Given the description of an element on the screen output the (x, y) to click on. 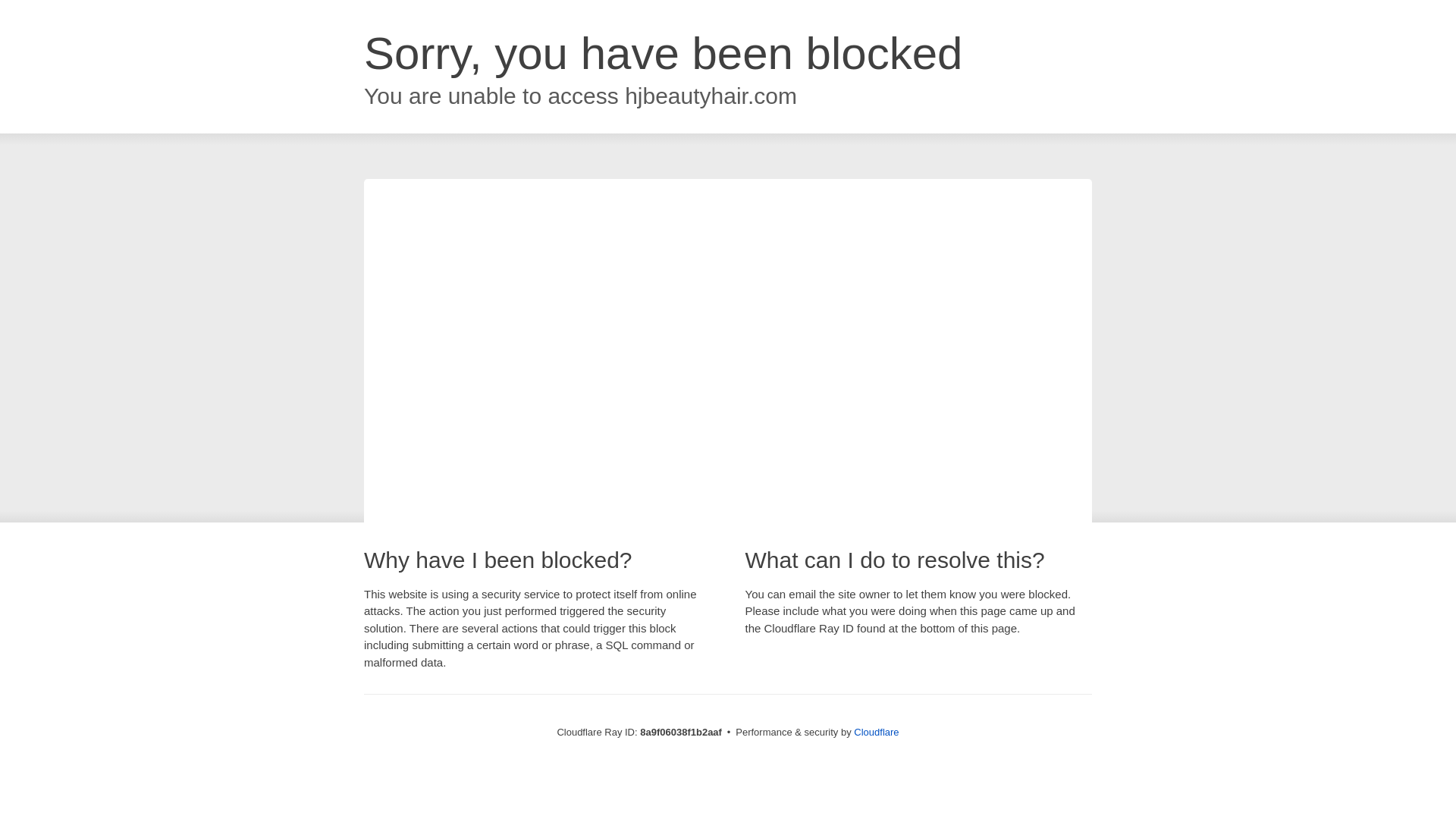
Cloudflare (875, 731)
